Given the description of an element on the screen output the (x, y) to click on. 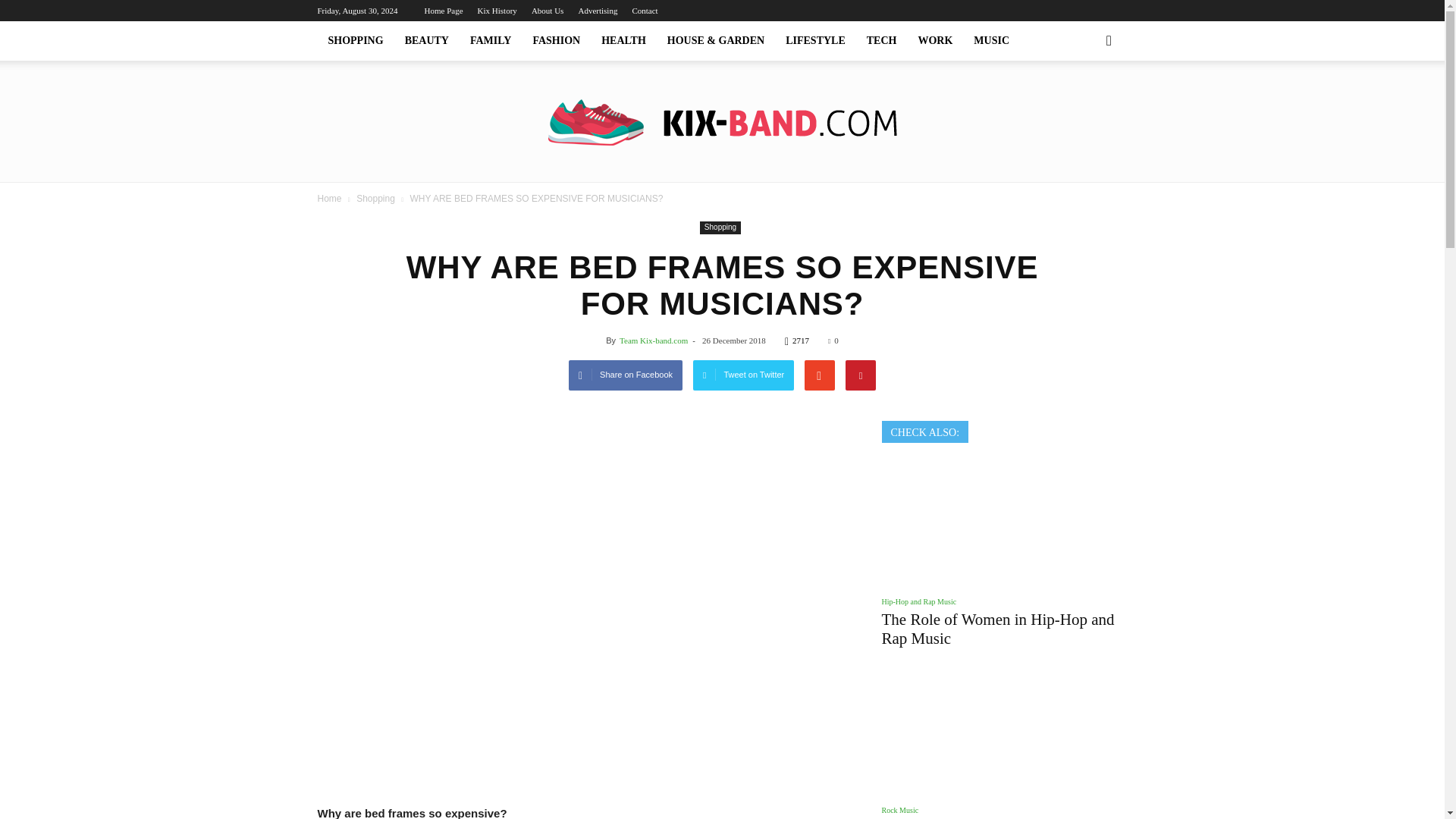
Home Page (444, 10)
Kix History (496, 10)
kix-band (721, 122)
HEALTH (623, 40)
FAMILY (490, 40)
BEAUTY (427, 40)
The Role of Women in Hip-Hop and Rap Music (996, 628)
View all posts in Shopping (376, 198)
SHOPPING (355, 40)
Contact (644, 10)
